Given the description of an element on the screen output the (x, y) to click on. 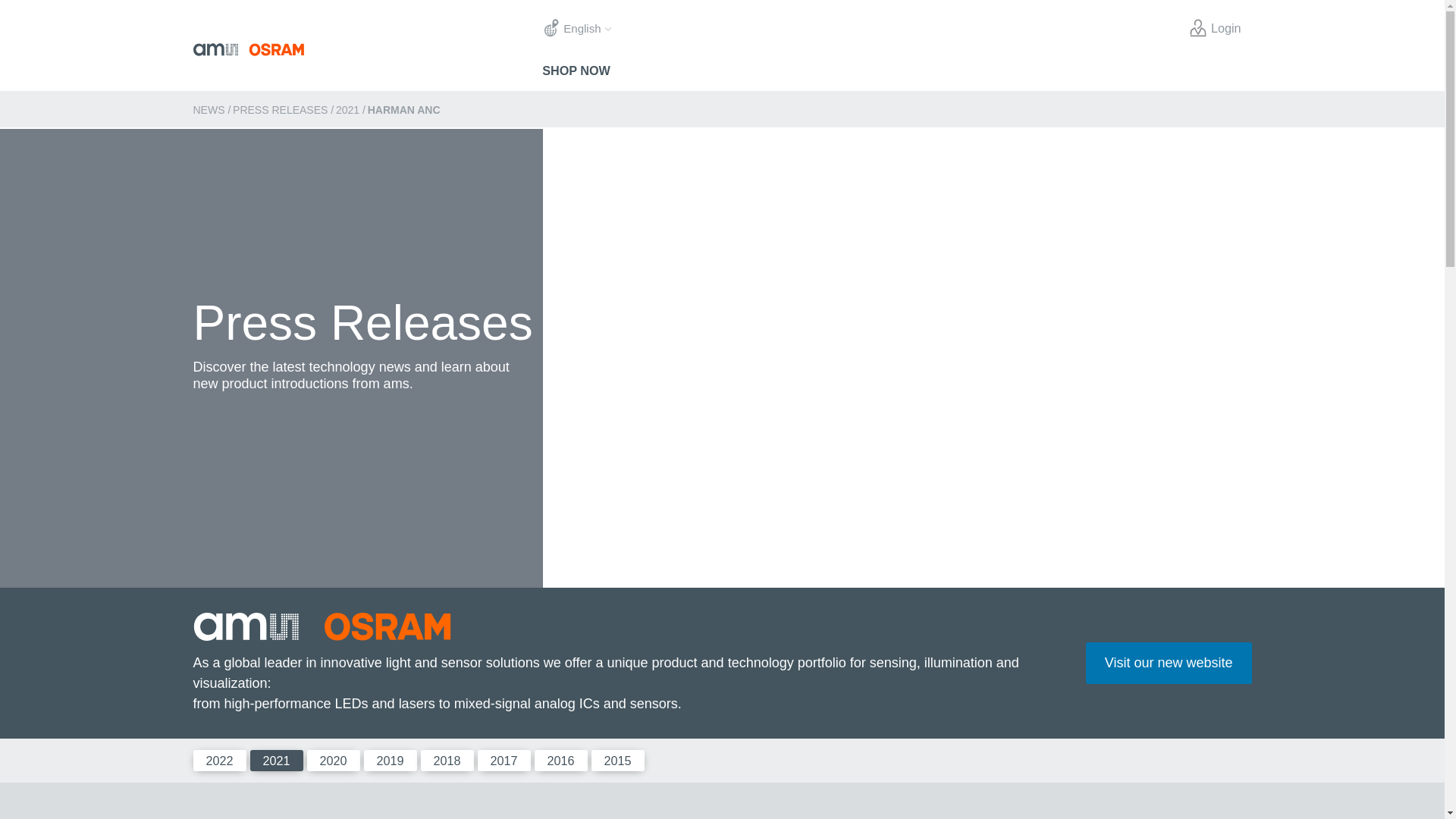
Login (1214, 28)
English (576, 29)
ams (366, 49)
SHOP NOW (575, 70)
